Given the description of an element on the screen output the (x, y) to click on. 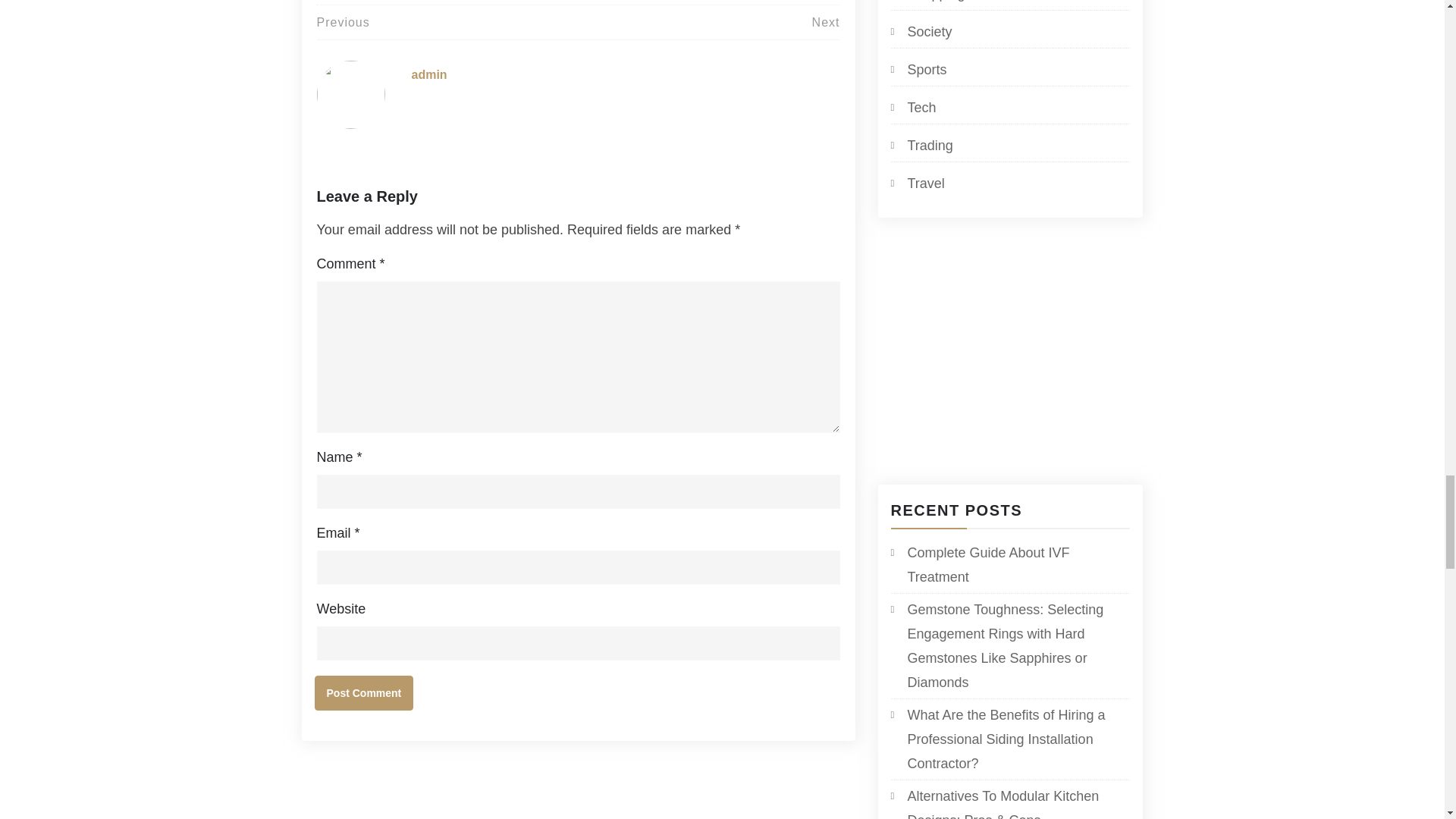
Next (826, 21)
admin (428, 74)
Posts by admin (428, 74)
Post Comment (363, 692)
Post Comment (363, 692)
Previous (343, 21)
